Given the description of an element on the screen output the (x, y) to click on. 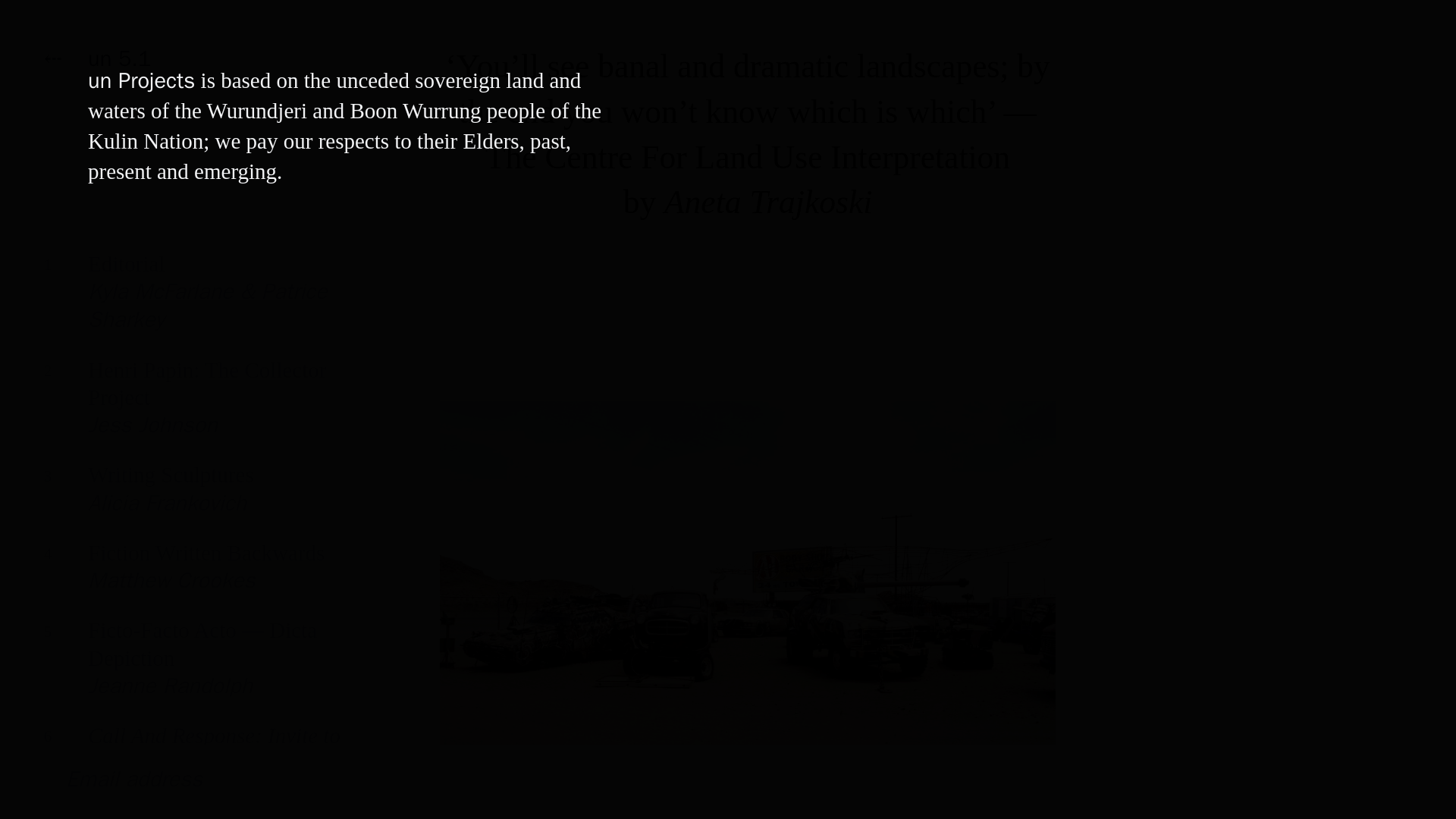
Posts by Aneta Trajkoski (197, 408)
Aneta Trajkoski (197, 577)
